Given the description of an element on the screen output the (x, y) to click on. 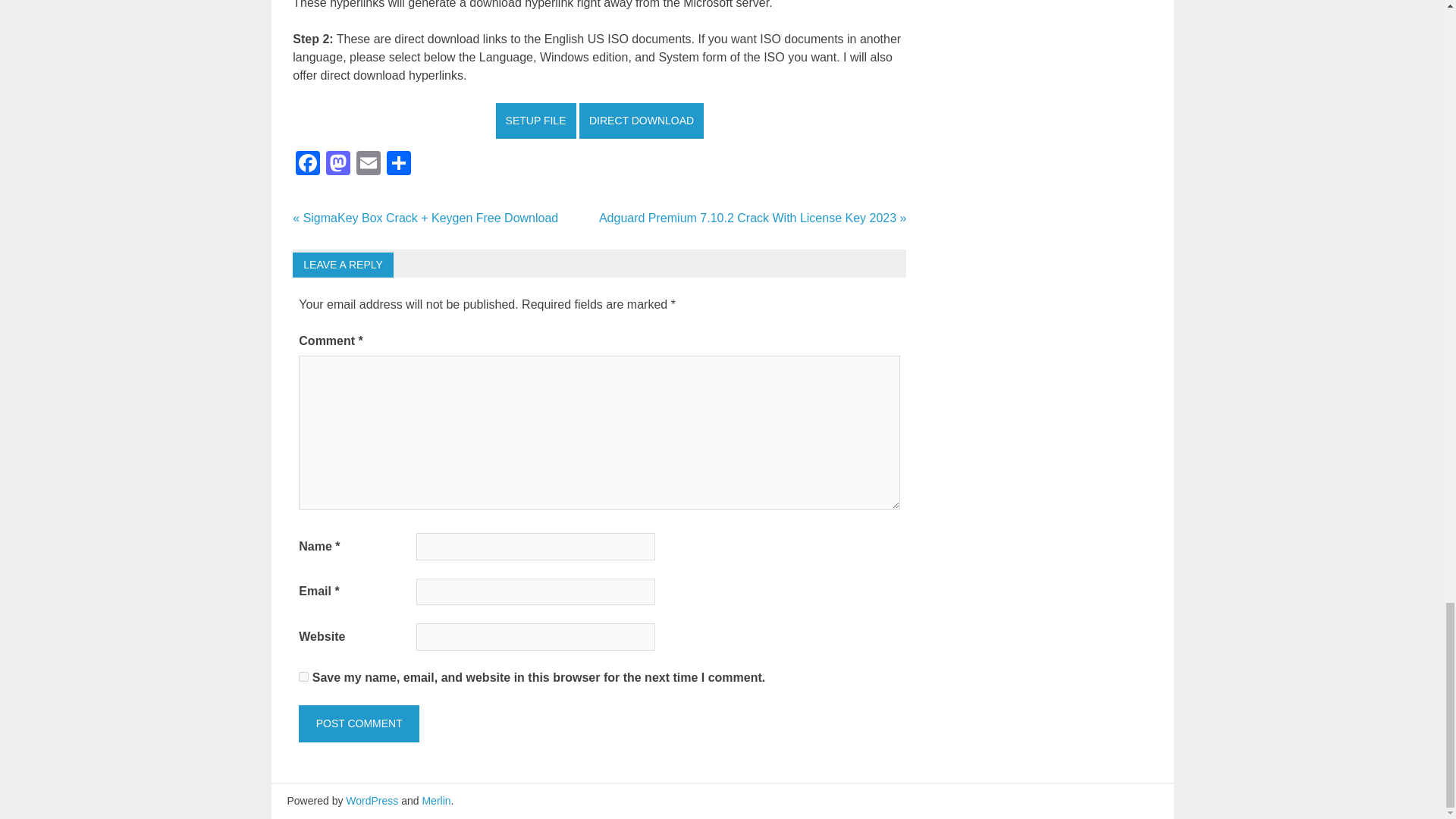
DIRECT DOWNLOAD (641, 120)
Mastodon (338, 164)
Share (398, 164)
WordPress (371, 800)
Post Comment (358, 723)
Mastodon (338, 164)
Facebook (307, 164)
Email (368, 164)
Merlin WordPress Theme (435, 800)
yes (303, 676)
SETUP FILE (536, 120)
SETUP FILE DIRECT DOWNLOAD (600, 119)
Post Comment (358, 723)
Facebook (307, 164)
Email (368, 164)
